Given the description of an element on the screen output the (x, y) to click on. 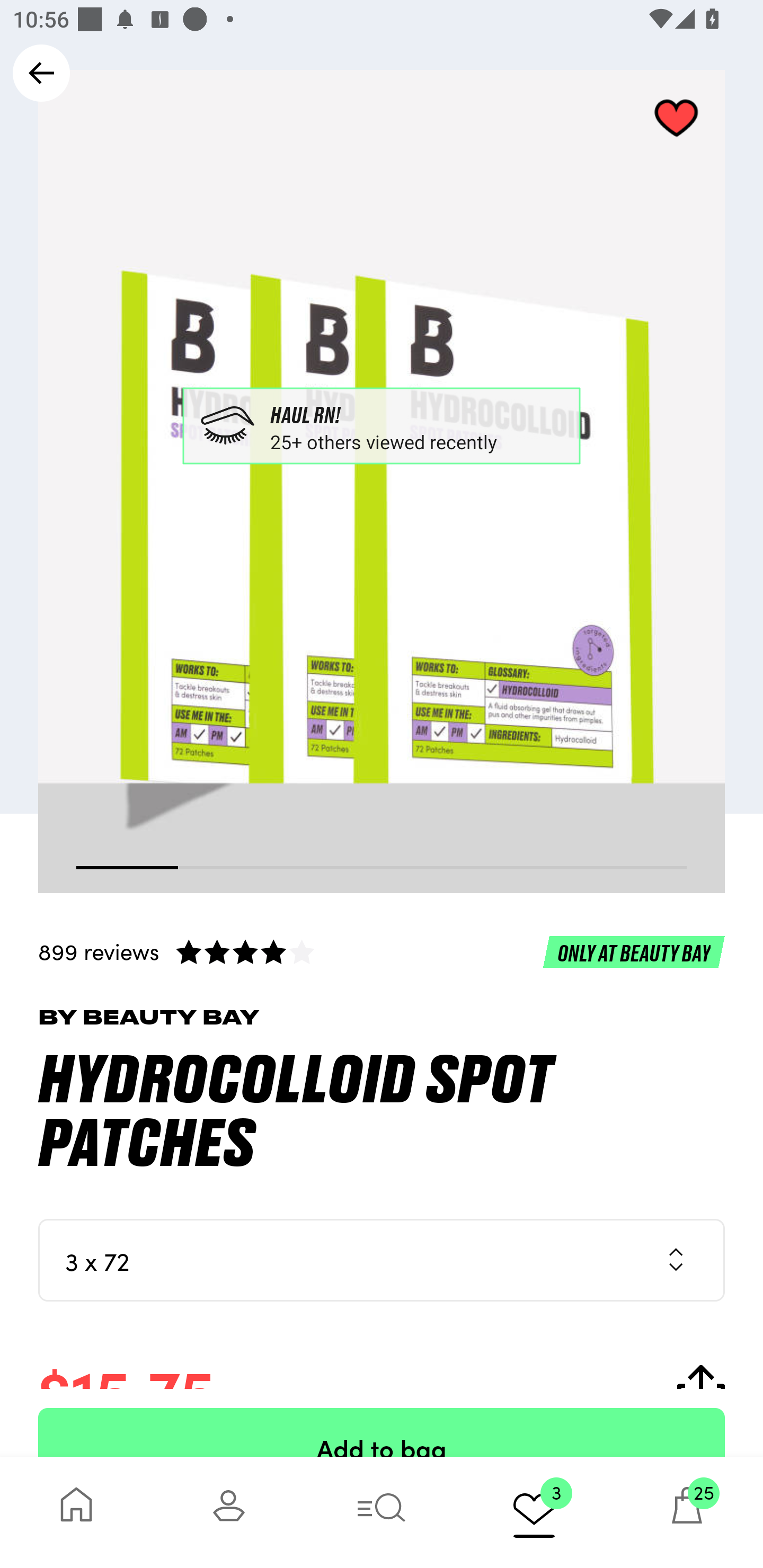
899 reviews (381, 950)
3 x 72    (381, 1259)
3 (533, 1512)
25 (686, 1512)
